Given the description of an element on the screen output the (x, y) to click on. 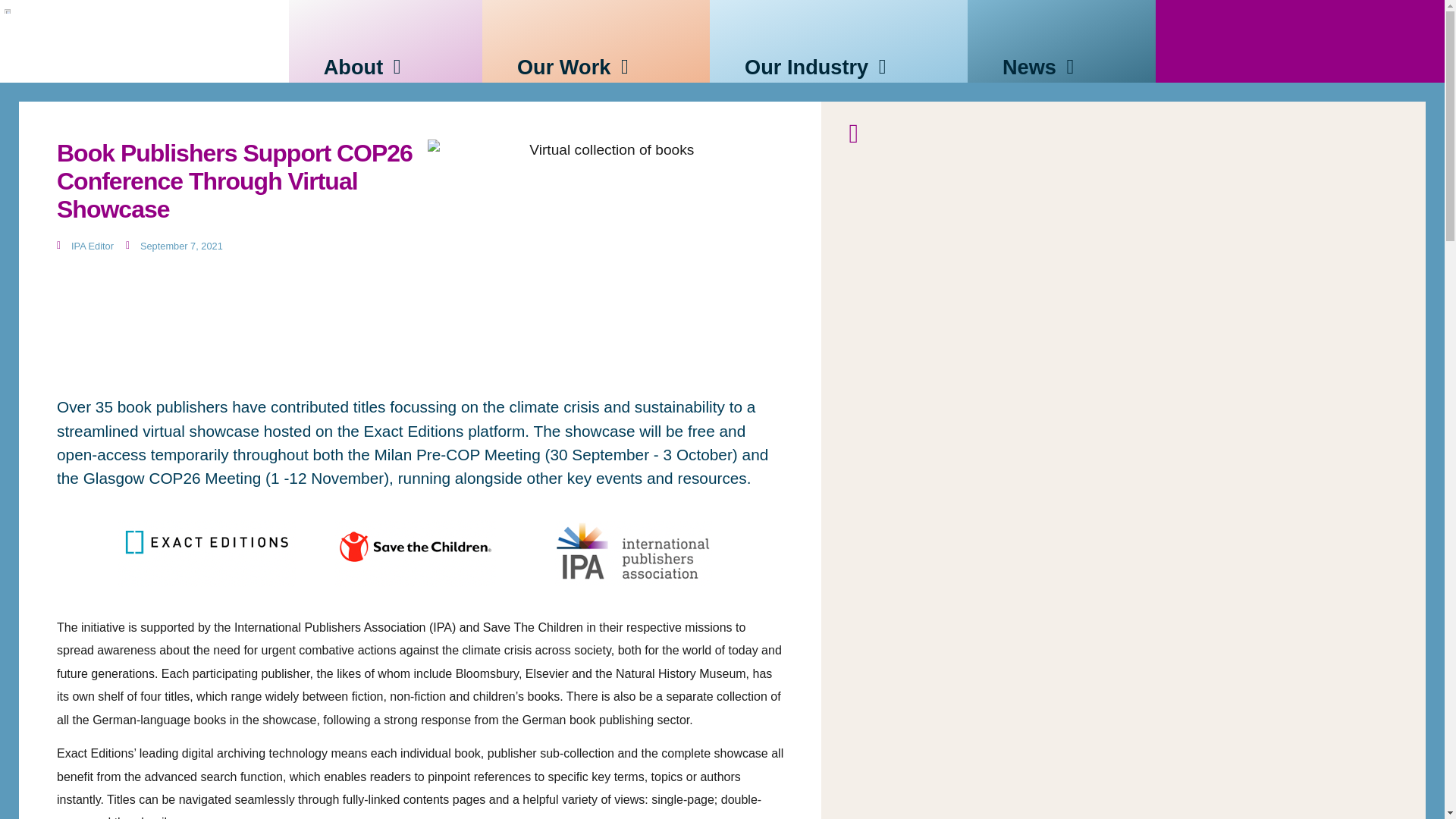
About (353, 67)
Our Industry (805, 67)
News (1030, 67)
Our Work (563, 67)
